Given the description of an element on the screen output the (x, y) to click on. 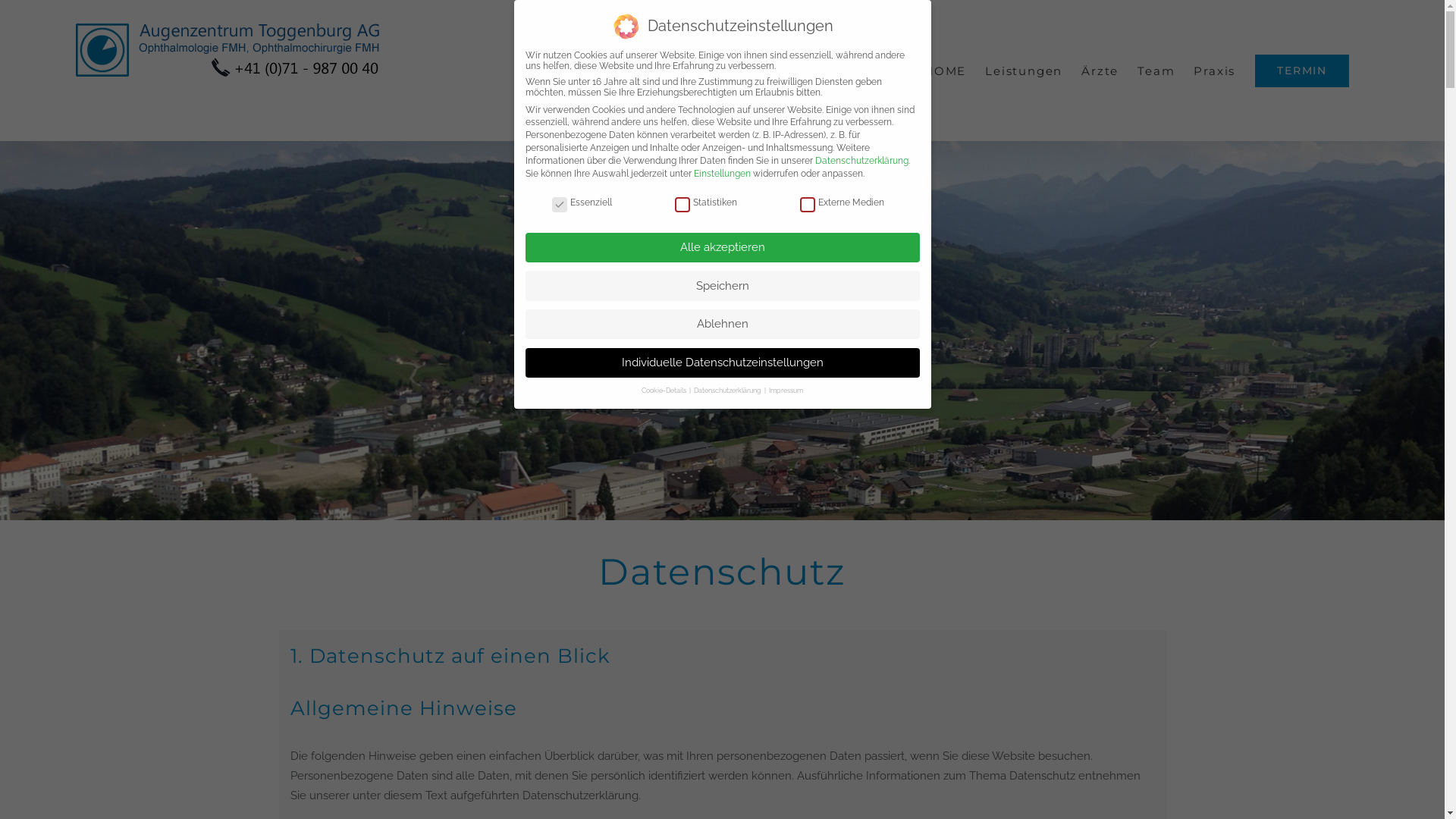
Ablehnen Element type: text (721, 323)
Impressum Element type: text (785, 390)
Team Element type: text (1155, 70)
Alle akzeptieren Element type: text (721, 247)
Individuelle Datenschutzeinstellungen Element type: text (721, 362)
Cookie-Details Element type: text (664, 390)
Praxis Element type: text (1214, 70)
TERMIN Element type: text (1301, 70)
HOME Element type: text (944, 70)
Leistungen Element type: text (1023, 70)
Einstellungen Element type: text (721, 173)
Speichern Element type: text (721, 285)
